Given the description of an element on the screen output the (x, y) to click on. 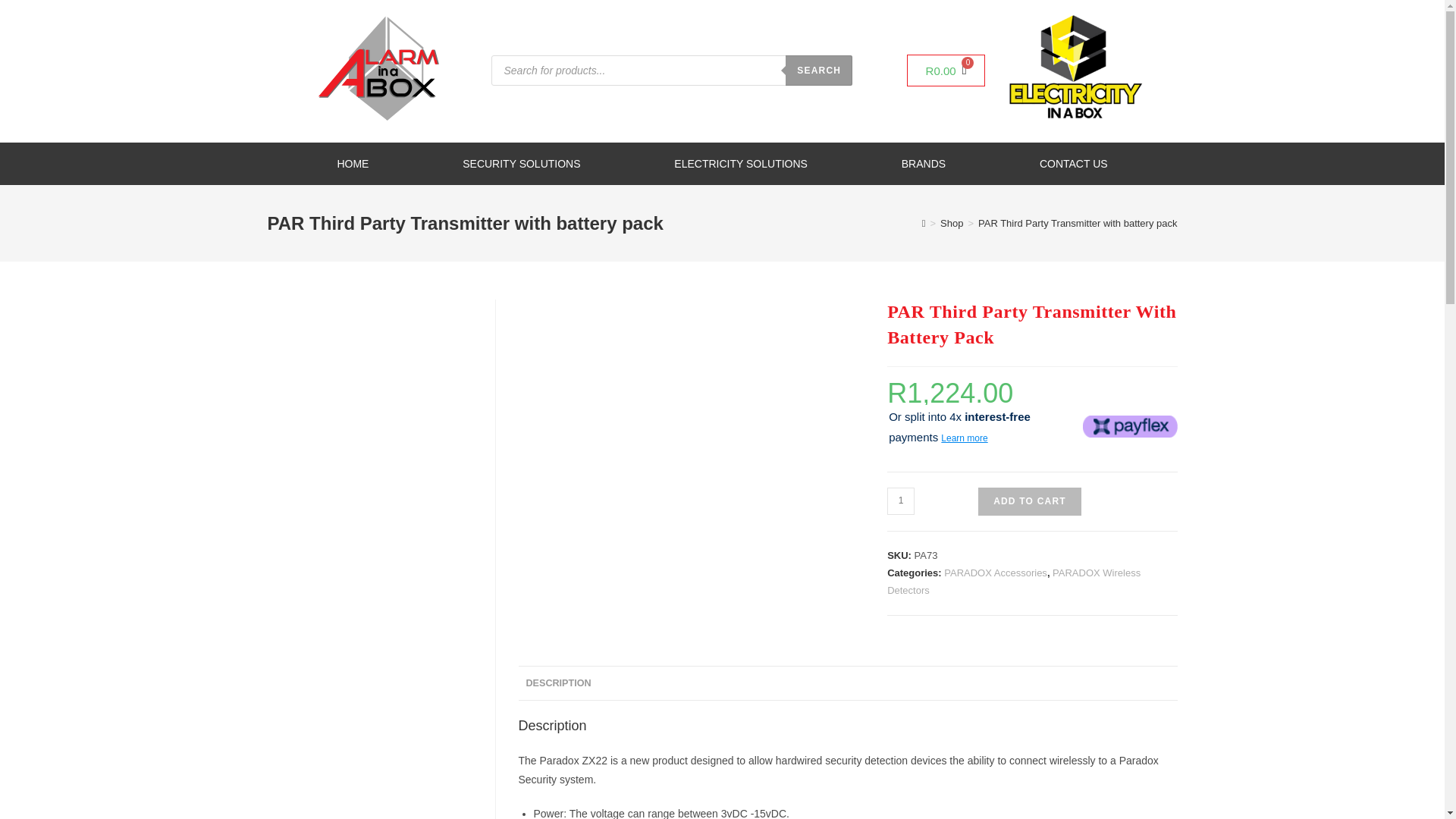
SEARCH (818, 70)
SECURITY SOLUTIONS (946, 70)
BRANDS (520, 163)
ELECTRICITY SOLUTIONS (923, 163)
1 (740, 163)
HOME (900, 501)
